Given the description of an element on the screen output the (x, y) to click on. 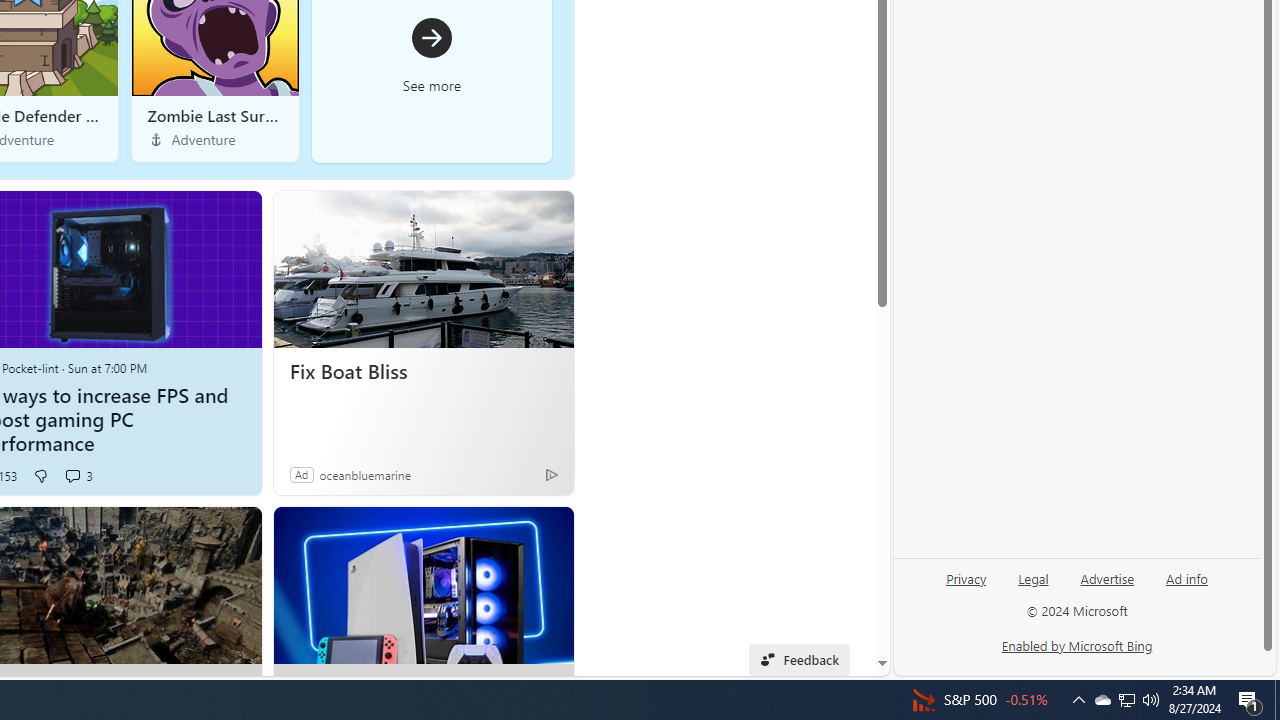
Fix Boat Bliss (423, 371)
Ad info (1187, 577)
Hide this story (512, 530)
oceanbluemarine (364, 474)
View comments 3 Comment (72, 475)
